Given the description of an element on the screen output the (x, y) to click on. 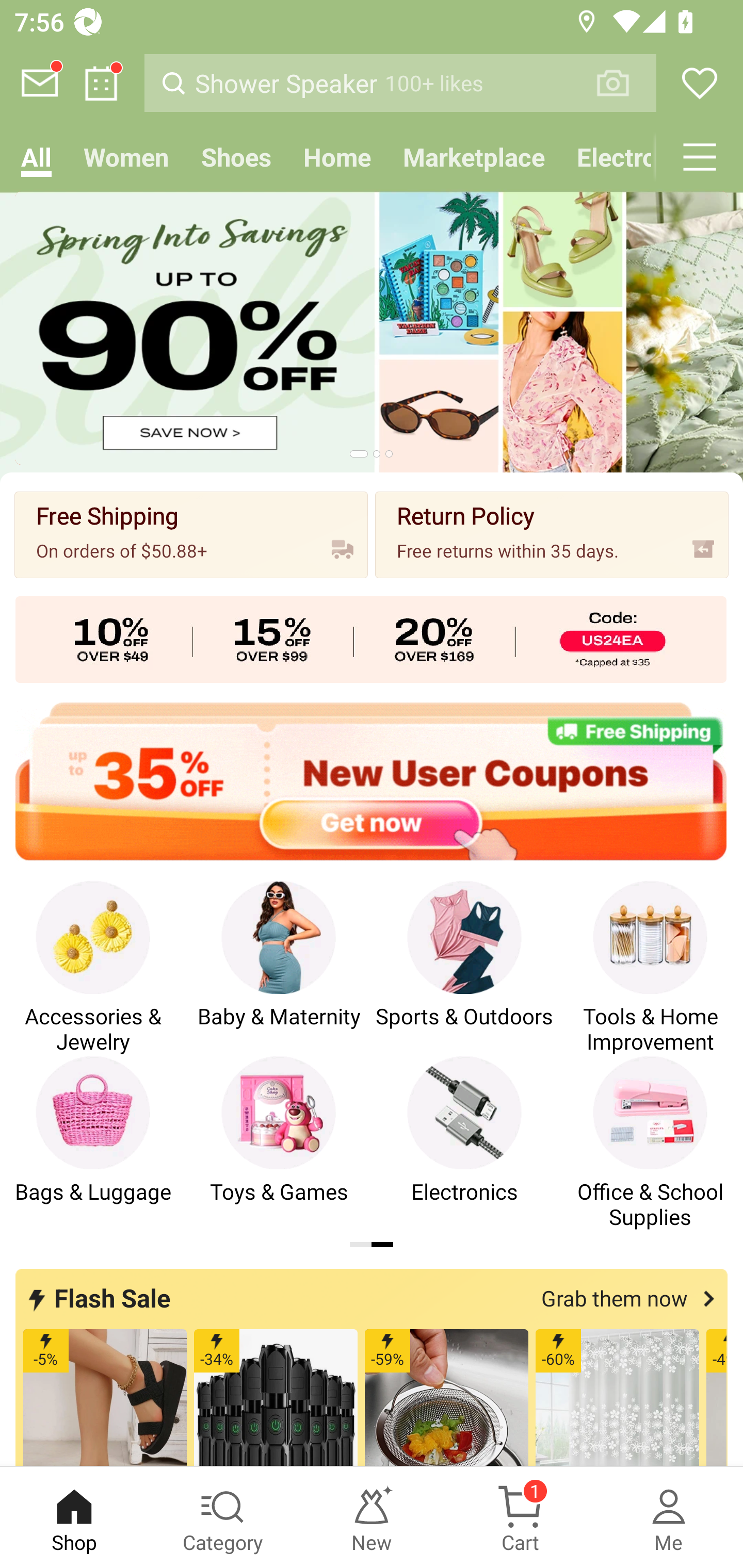
Wishlist (699, 82)
VISUAL SEARCH (623, 82)
All (36, 156)
Women (126, 156)
Shoes (236, 156)
Home (337, 156)
Marketplace (473, 156)
Electronics (608, 156)
Free Shipping On orders of $50.88+ (190, 534)
Return Policy Free returns within 35 days. (551, 534)
Accessories & Jewelry (92, 968)
Baby & Maternity (278, 968)
Sports & Outdoors (464, 968)
Tools & Home Improvement (650, 968)
Bags & Luggage (92, 1142)
Toys & Games (278, 1142)
Electronics (464, 1142)
Office & School Supplies (650, 1142)
Category (222, 1517)
New (371, 1517)
Cart 1 Cart (519, 1517)
Me (668, 1517)
